Given the description of an element on the screen output the (x, y) to click on. 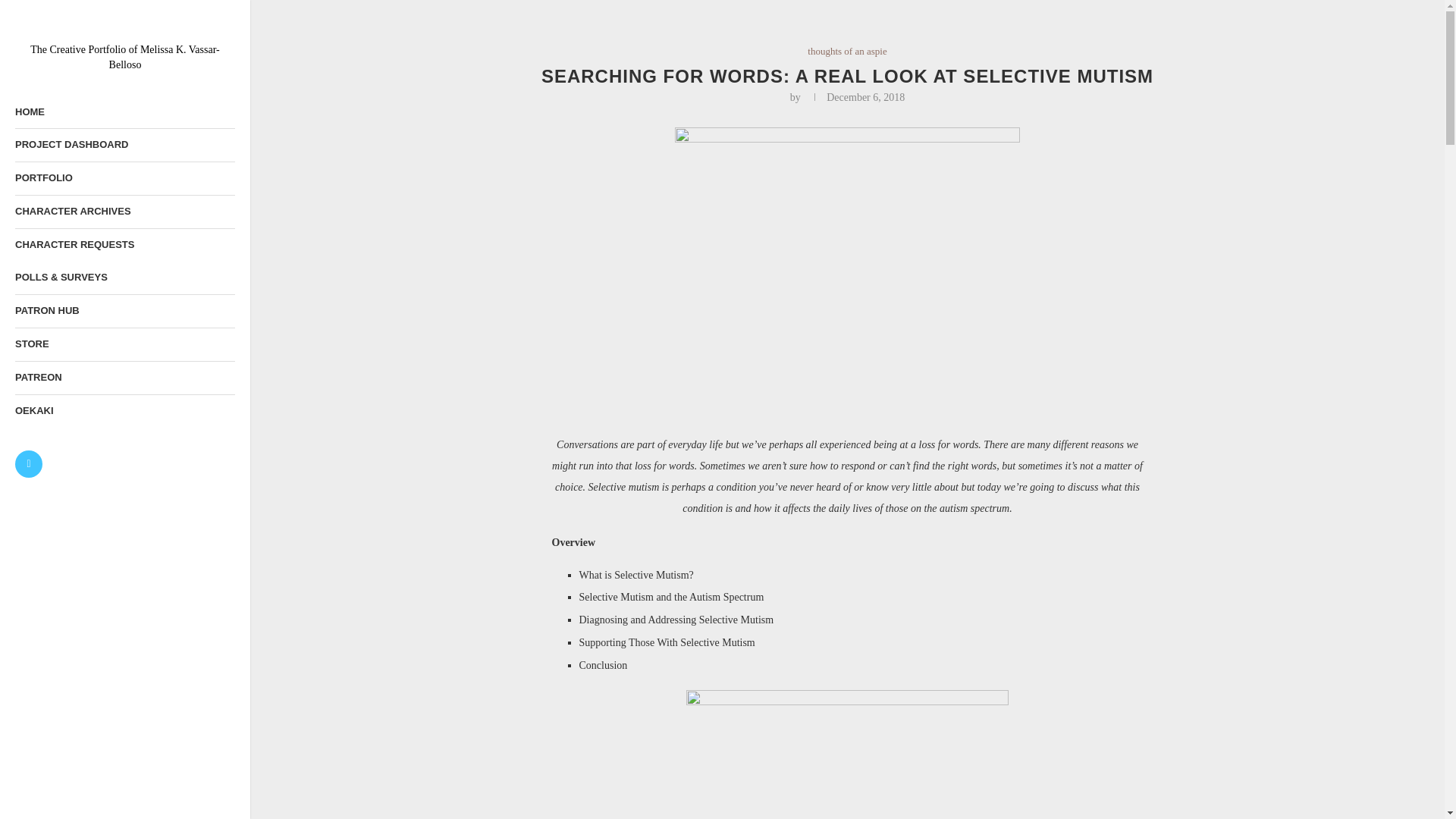
HOME (124, 112)
CHARACTER ARCHIVES (124, 211)
PATREON (124, 377)
PATRON HUB (124, 310)
thoughts of an aspie (847, 51)
CHARACTER REQUESTS (124, 245)
STORE (124, 344)
OEKAKI (124, 410)
PORTFOLIO (124, 178)
PROJECT DASHBOARD (124, 144)
